Given the description of an element on the screen output the (x, y) to click on. 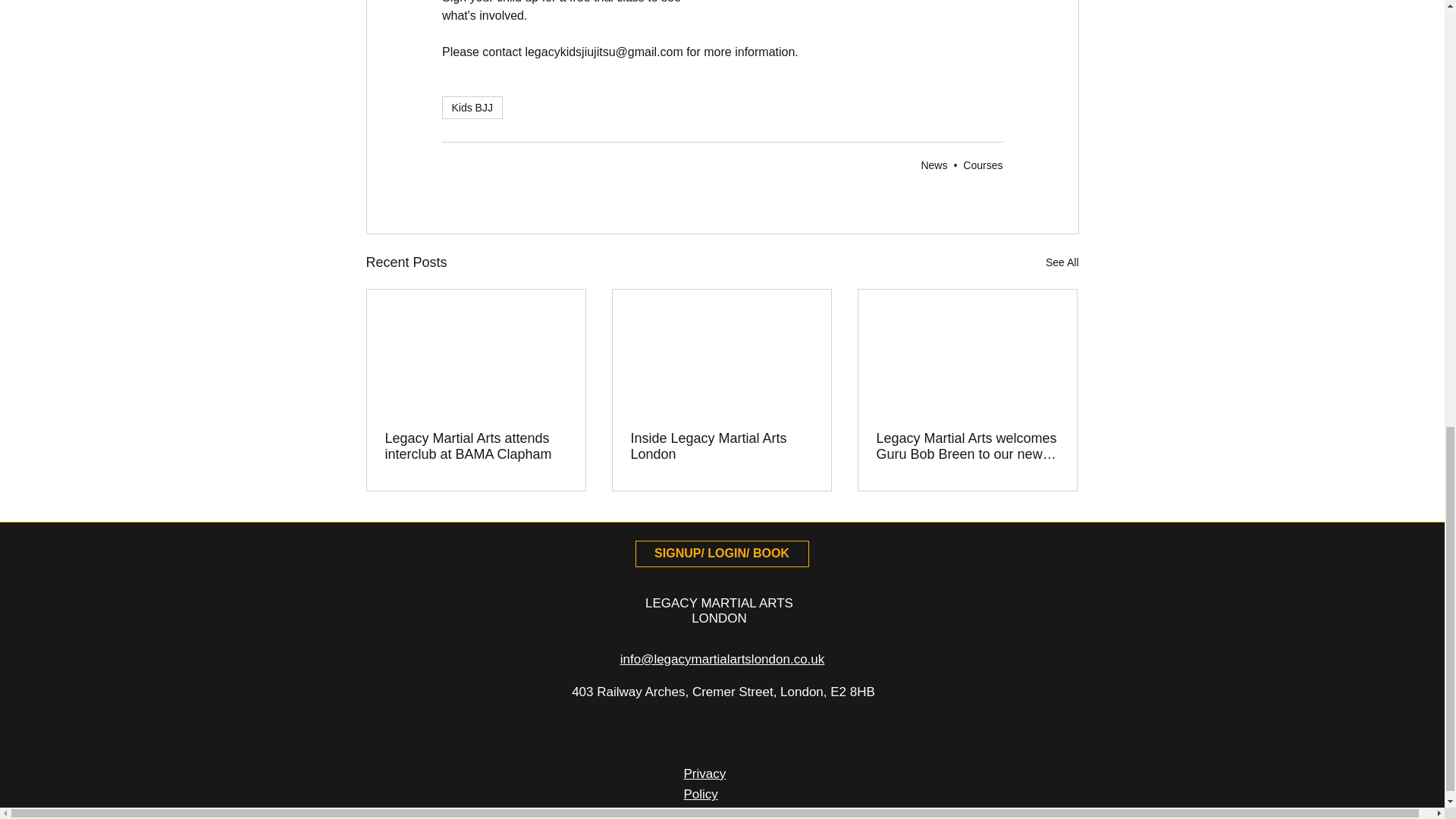
Legacy Martial Arts attends interclub at BAMA Clapham (476, 446)
See All (1061, 262)
News (933, 164)
Courses (982, 164)
LEGACY MARTIAL ARTS LONDON (719, 610)
Inside Legacy Martial Arts London (721, 446)
Legacy Martial Arts welcomes Guru Bob Breen to our new gym (967, 446)
Kids BJJ (471, 107)
